Given the description of an element on the screen output the (x, y) to click on. 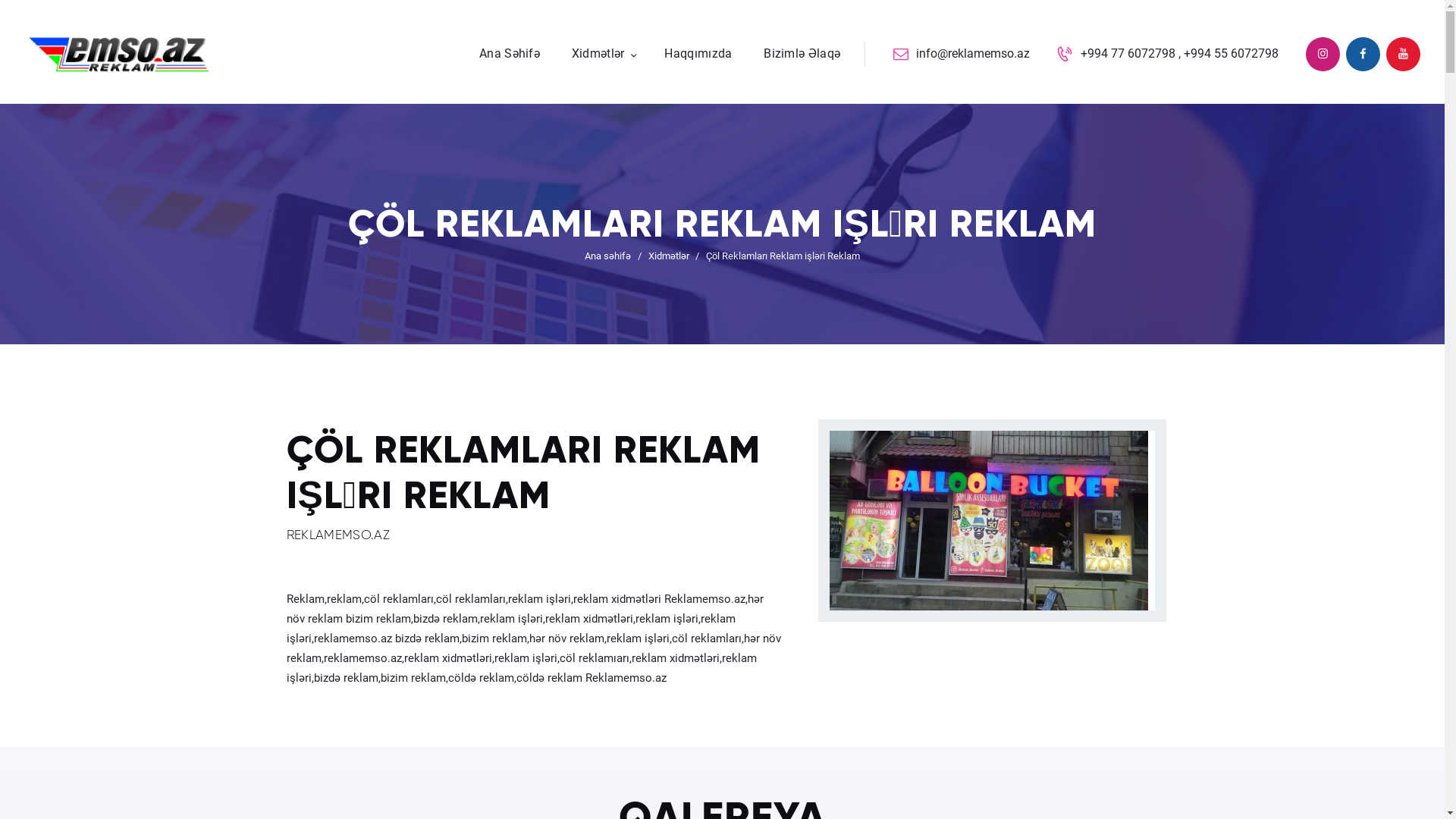
+994 77 6072798 Element type: text (1127, 53)
info@reklamemso.az Element type: text (961, 53)
+994 55 6072798 Element type: text (1230, 53)
